Given the description of an element on the screen output the (x, y) to click on. 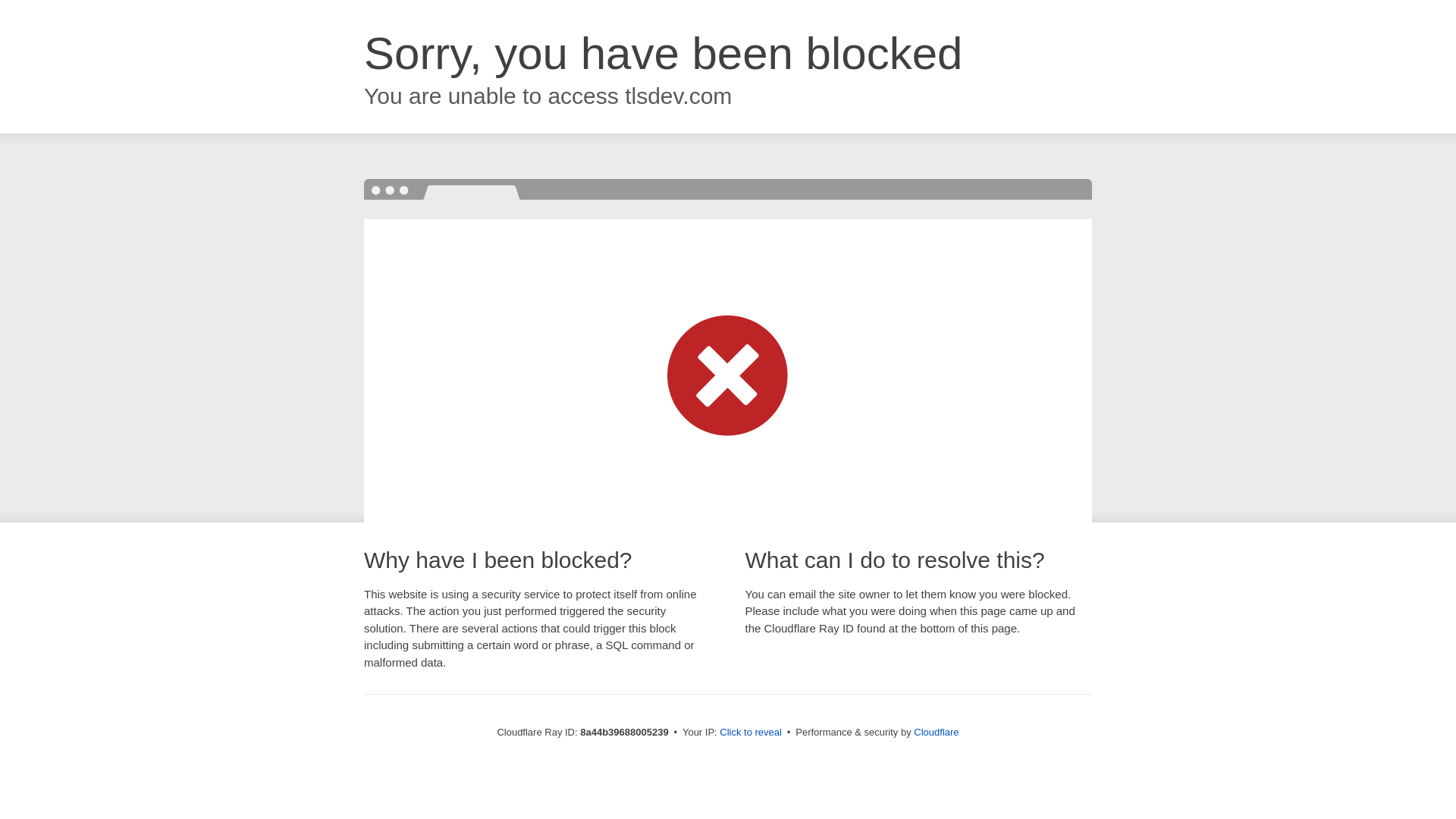
Click to reveal (750, 732)
Cloudflare (936, 731)
